Given the description of an element on the screen output the (x, y) to click on. 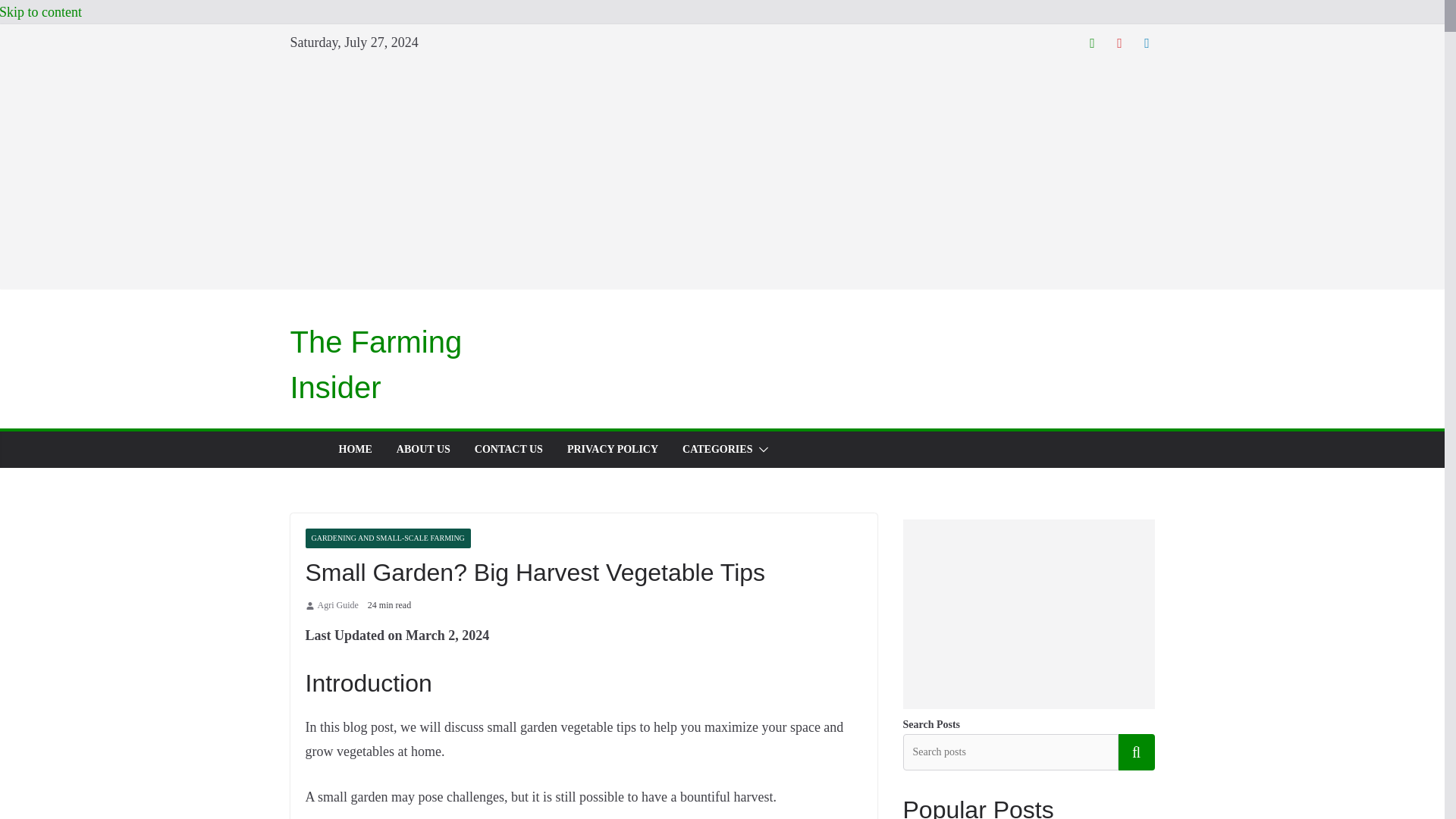
Pinterest (1119, 43)
The Farming Insider (375, 364)
Agri Guide (337, 605)
Twitter (1091, 43)
CONTACT US (508, 449)
PRIVACY POLICY (612, 449)
CATEGORIES (717, 449)
ABOUT US (422, 449)
Skip to content (40, 11)
The Farming Insider (375, 364)
Agri Guide (337, 605)
GARDENING AND SMALL-SCALE FARMING (387, 537)
HOME (354, 449)
LinkedIn (1146, 43)
